Given the description of an element on the screen output the (x, y) to click on. 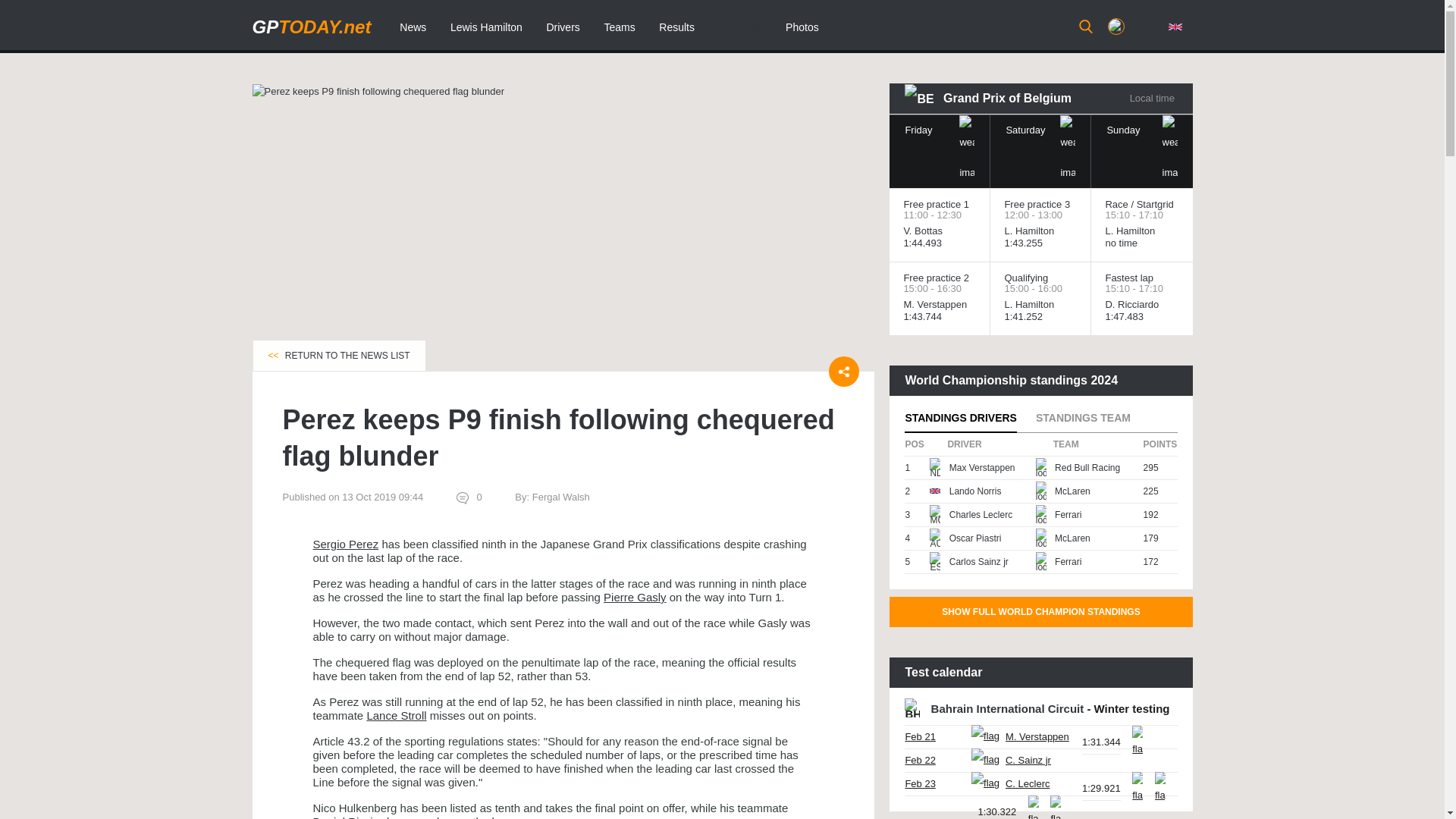
GPTODAY.net (311, 26)
Teams (618, 26)
News (412, 26)
Calendar (740, 26)
Lewis Hamilton (485, 26)
Perez keeps P9 finish following chequered flag blunder (377, 91)
Results (675, 26)
Drivers (562, 26)
Photos (801, 26)
